Given the description of an element on the screen output the (x, y) to click on. 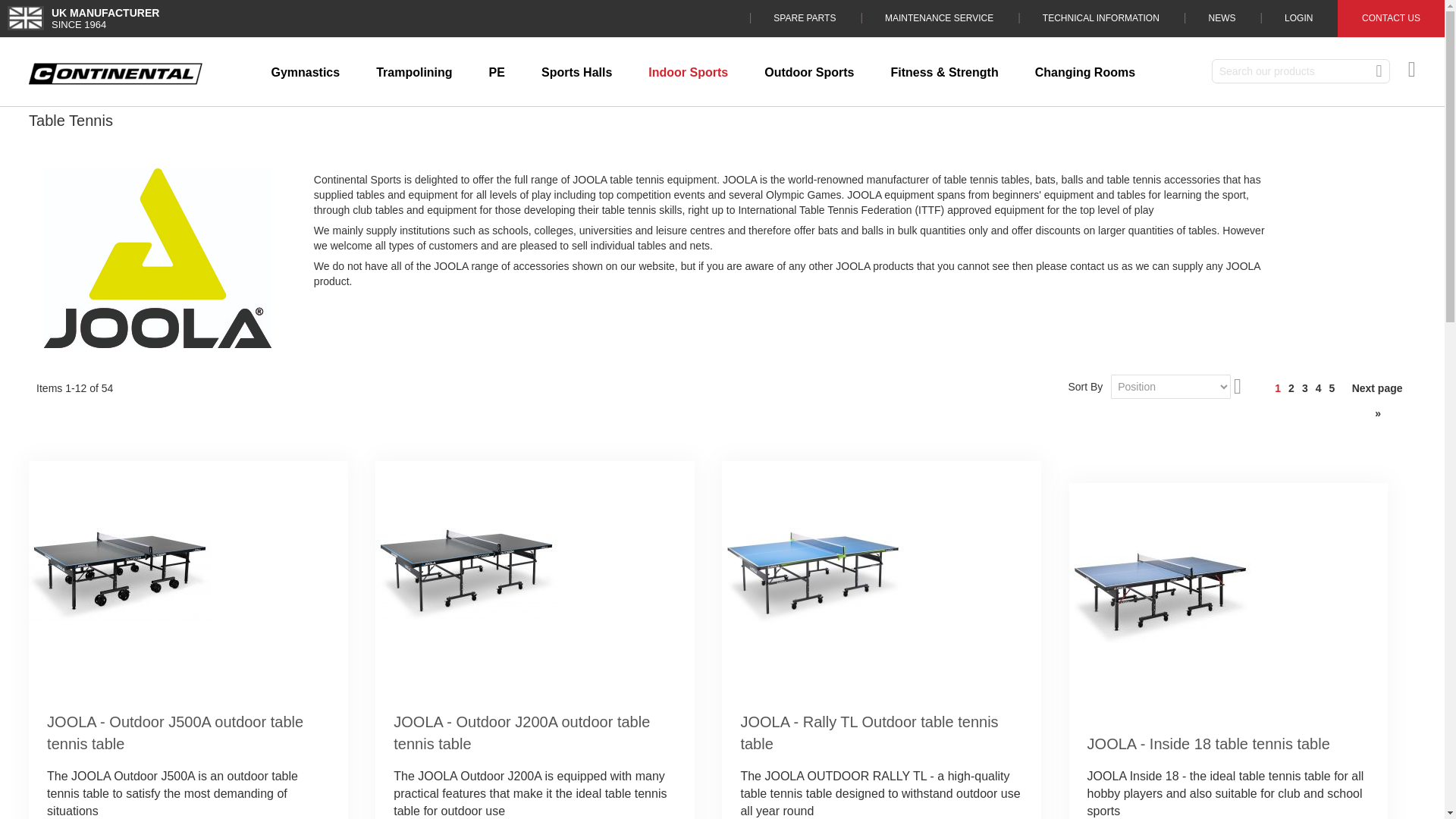
JOOLA table tennis (156, 257)
TECHNICAL INFORMATION (1100, 18)
NEWS (1221, 18)
SPARE PARTS (804, 18)
LOGIN (1298, 18)
Next (1377, 400)
Continental Sports (115, 74)
MAINTENANCE SERVICE (938, 18)
Trampolining (413, 72)
Gymnastics (305, 72)
News (1221, 18)
Technical Information (1100, 18)
